Given the description of an element on the screen output the (x, y) to click on. 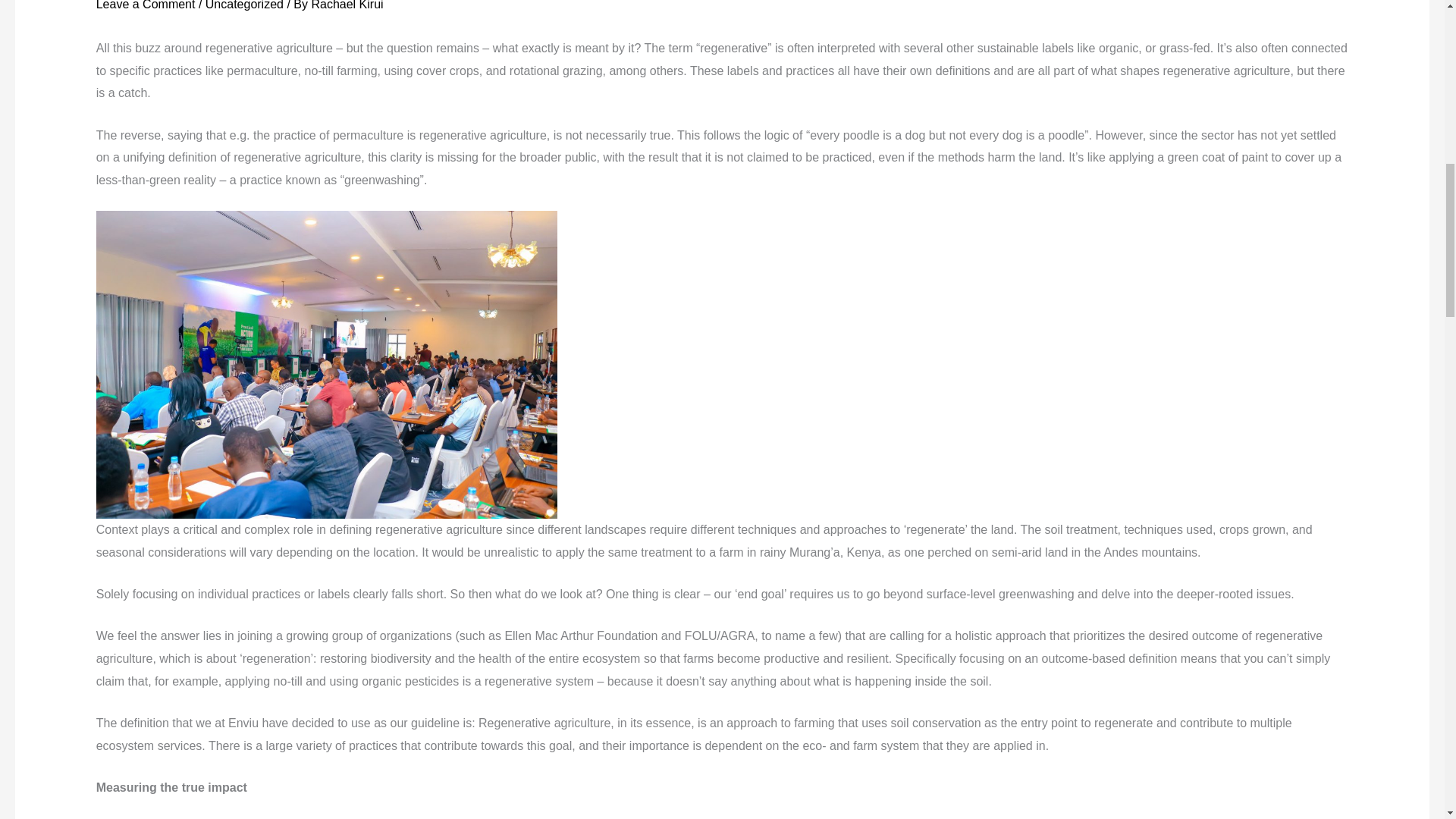
Leave a Comment (145, 5)
Uncategorized (244, 5)
View all posts by Rachael Kirui (346, 5)
Rachael Kirui (346, 5)
